Given the description of an element on the screen output the (x, y) to click on. 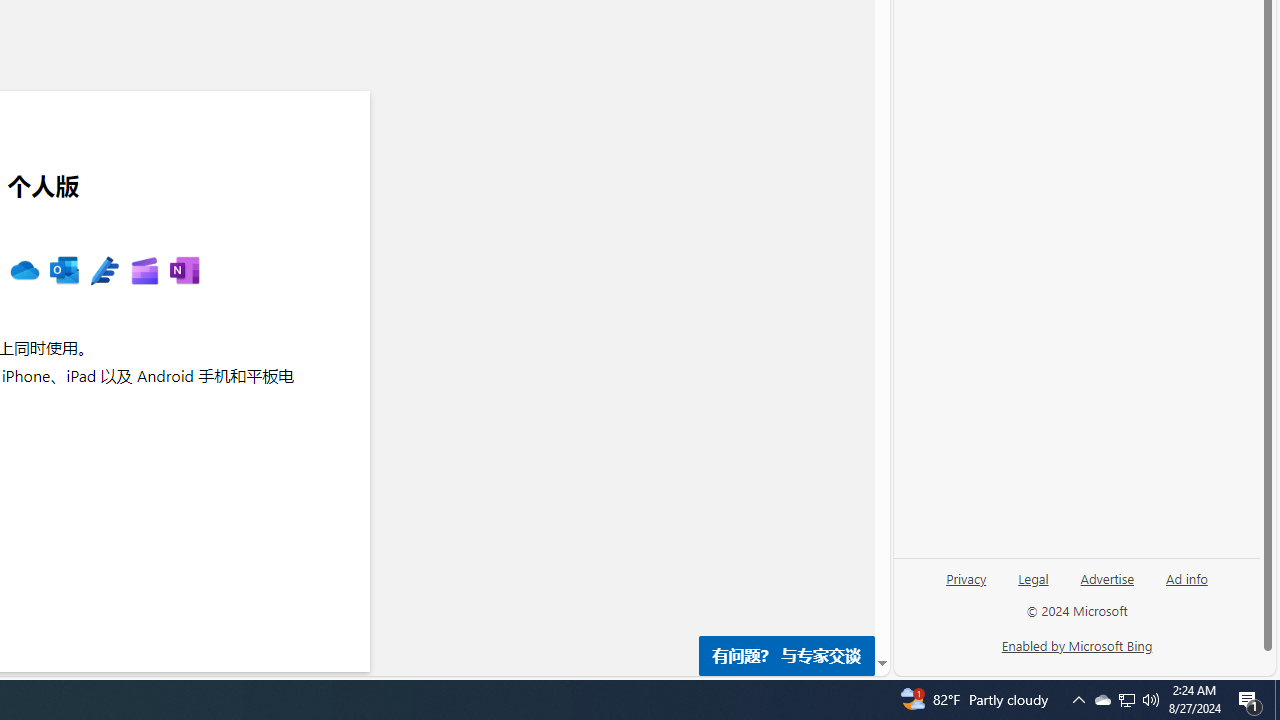
MS OneNote (183, 271)
MS Clipchamp (144, 271)
MS Editor (104, 271)
MS Outlook  (63, 271)
MS OneDrive (23, 271)
